Given the description of an element on the screen output the (x, y) to click on. 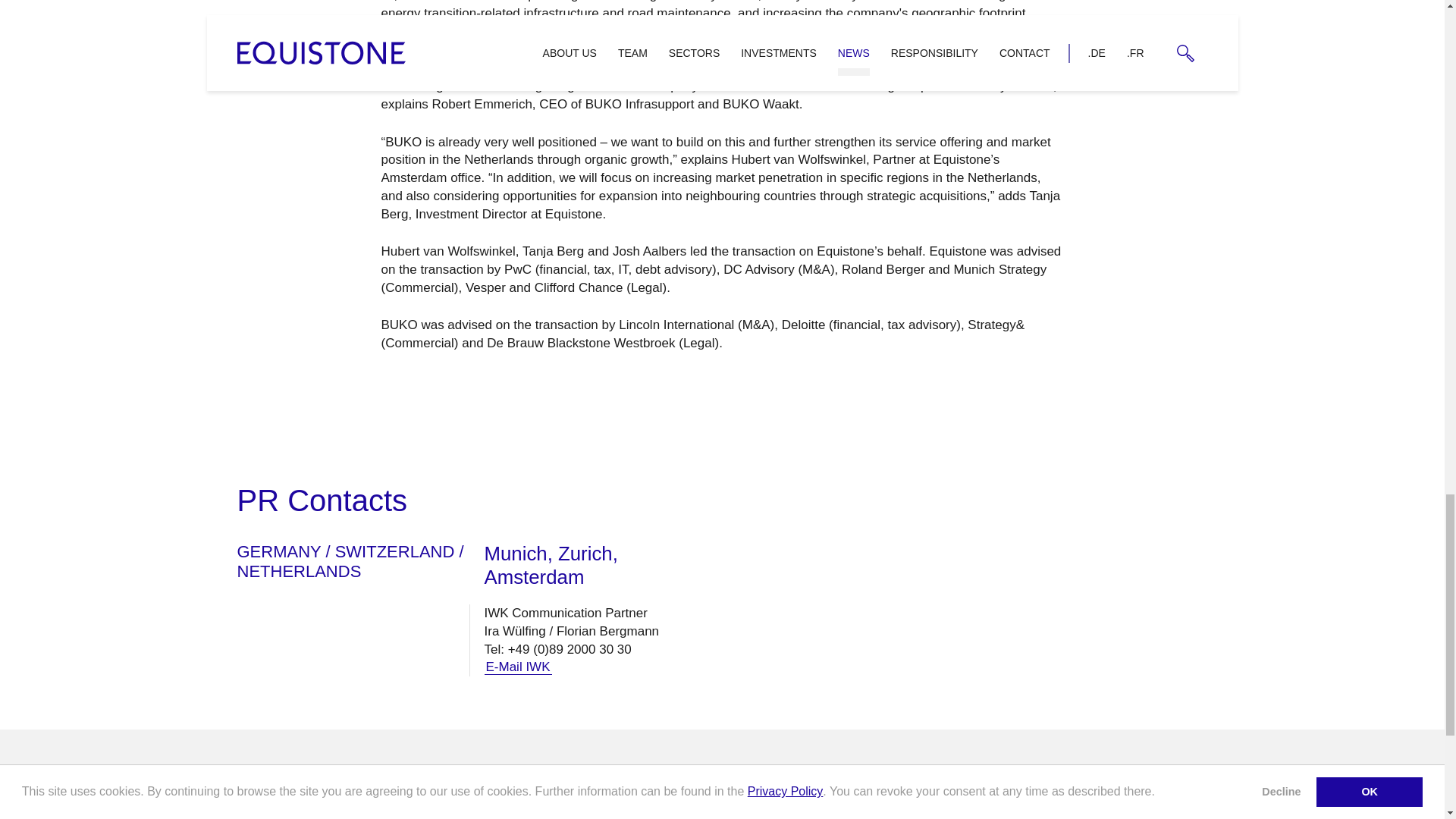
E-Mail IWK (517, 667)
